Given the description of an element on the screen output the (x, y) to click on. 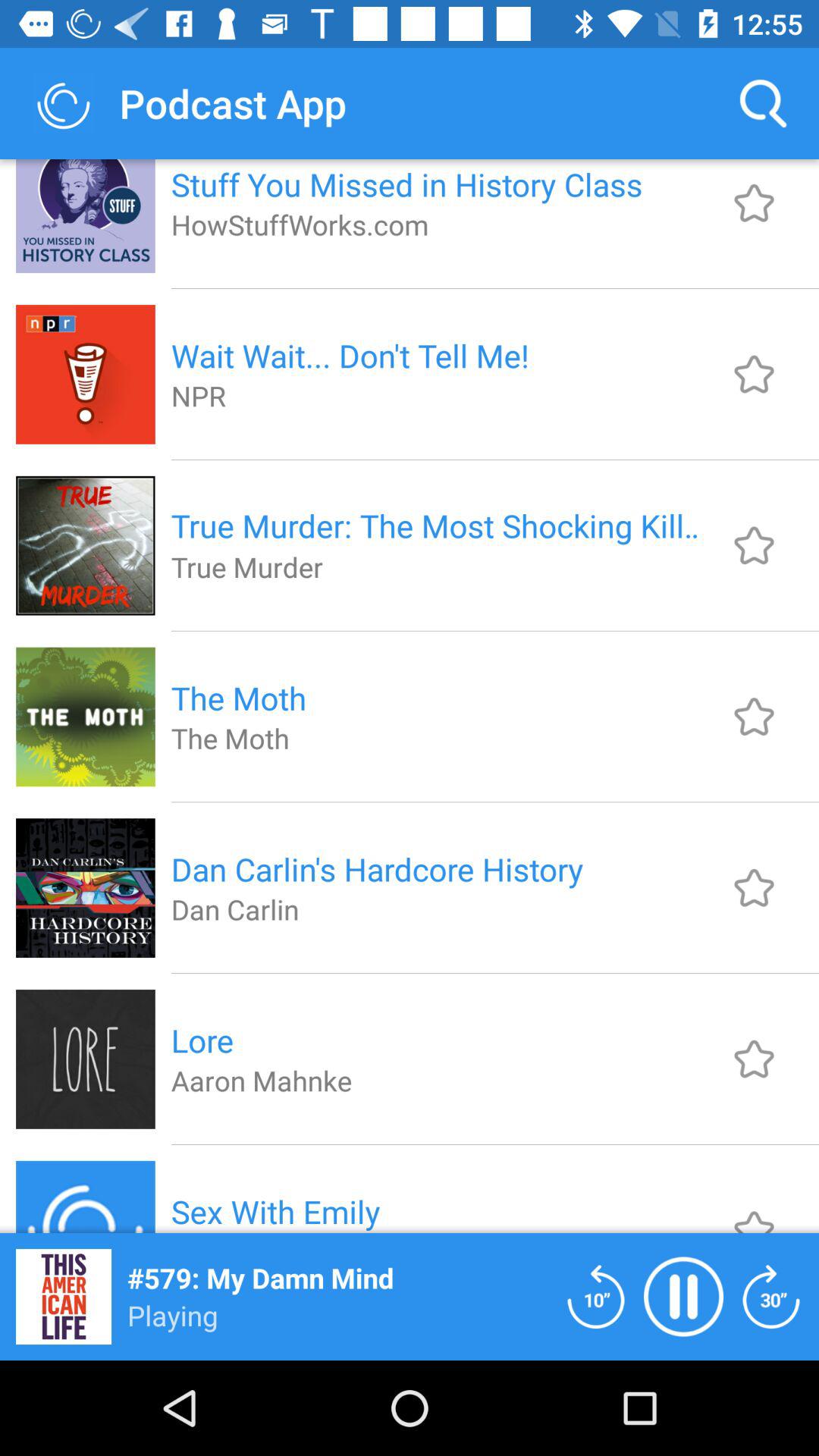
mark as favorite (754, 1058)
